Given the description of an element on the screen output the (x, y) to click on. 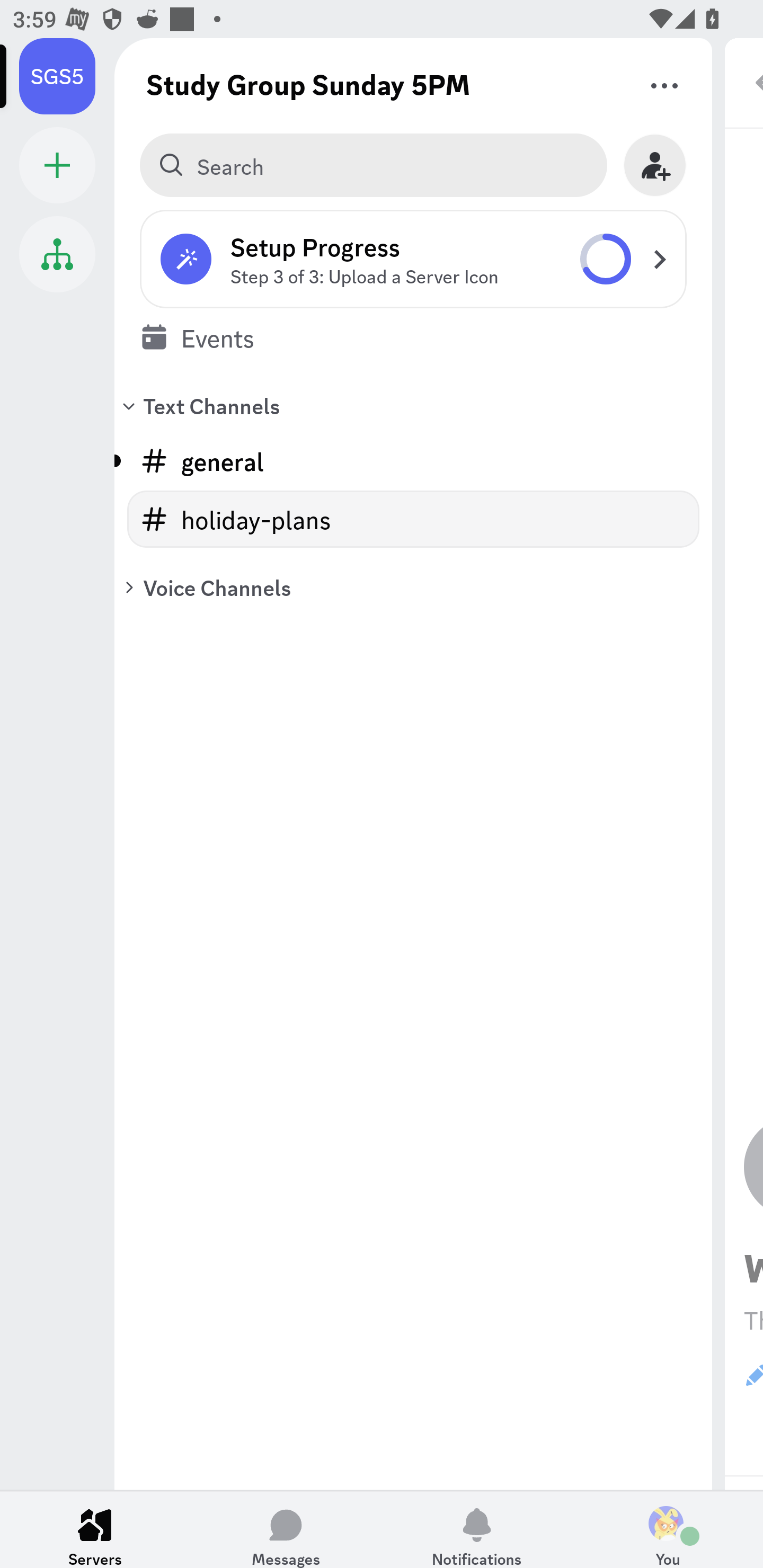
  Study Group Sunday 5PM SGS5 (66, 75)
Study Group Sunday 5PM (308, 83)
Add a Server (57, 165)
Search (373, 165)
Invite (654, 165)
Student Hub (57, 253)
Events (413, 336)
Text Channels (412, 404)
unread, general (text channel) general (413, 460)
holiday-plans (text channel) holiday-plans (413, 518)
Voice Channels (412, 586)
Servers (95, 1529)
Messages (285, 1529)
Notifications (476, 1529)
You (667, 1529)
